Given the description of an element on the screen output the (x, y) to click on. 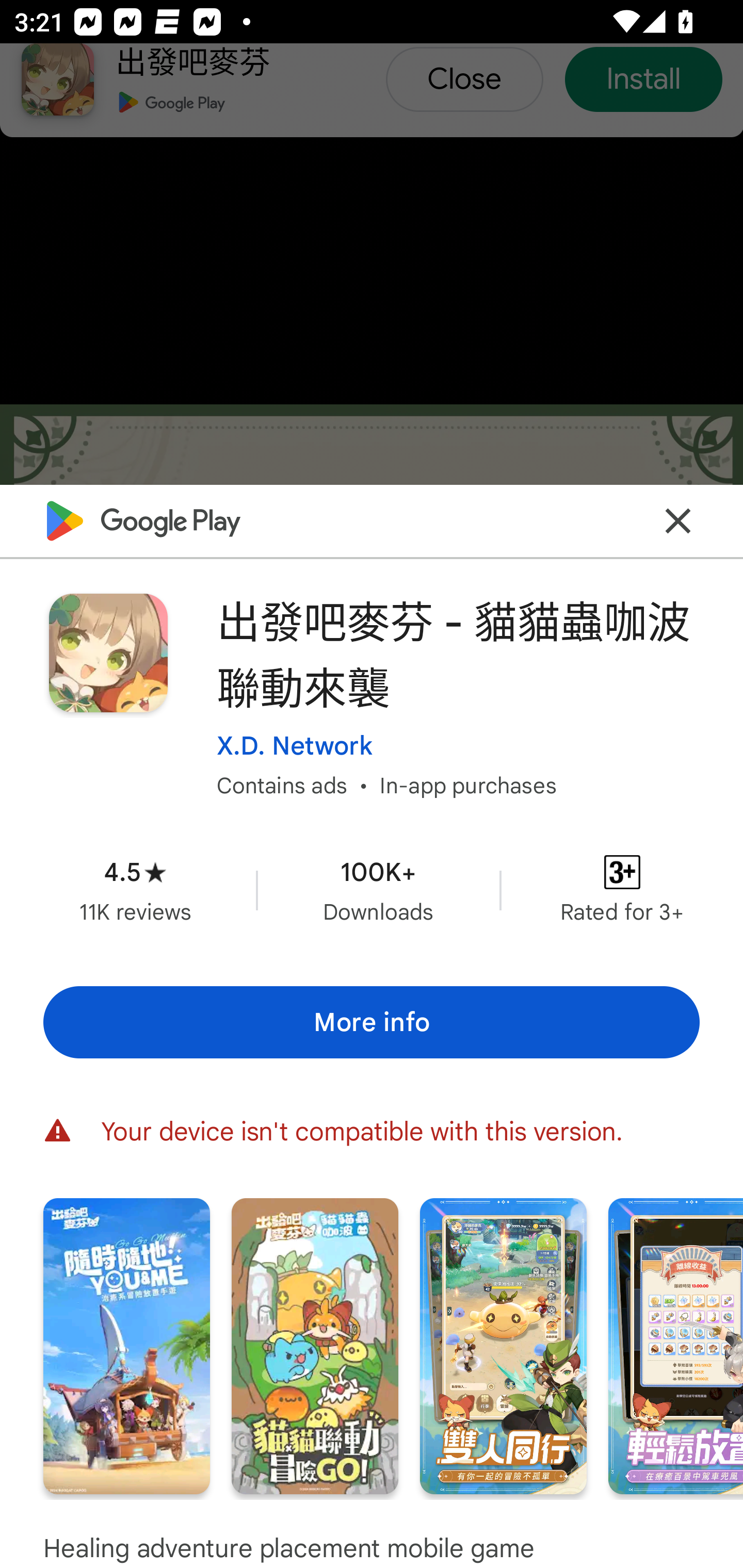
Close (677, 520)
Image of app or game icon for 出發吧麥芬 - 貓貓蟲咖波聯動來襲 (108, 653)
X.D. Network (294, 745)
More info (371, 1022)
Screenshot "1" of "8" (126, 1345)
Screenshot "2" of "8" (314, 1345)
Screenshot "3" of "8" (502, 1345)
Screenshot "4" of "8" (675, 1345)
